Given the description of an element on the screen output the (x, y) to click on. 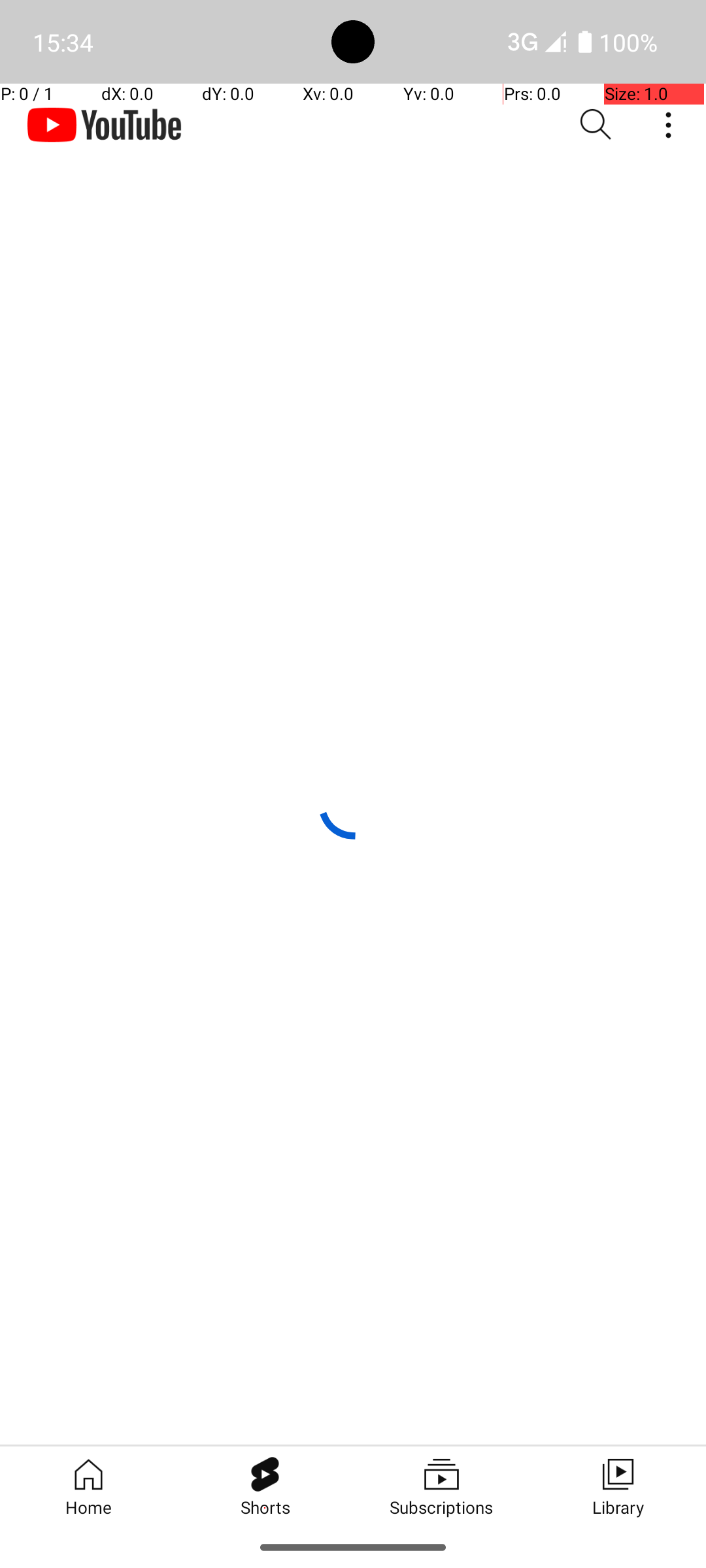
Shorts Element type: android.widget.Button (264, 1485)
Subscriptions Element type: android.widget.Button (441, 1485)
Library Element type: android.widget.Button (617, 1485)
